Given the description of an element on the screen output the (x, y) to click on. 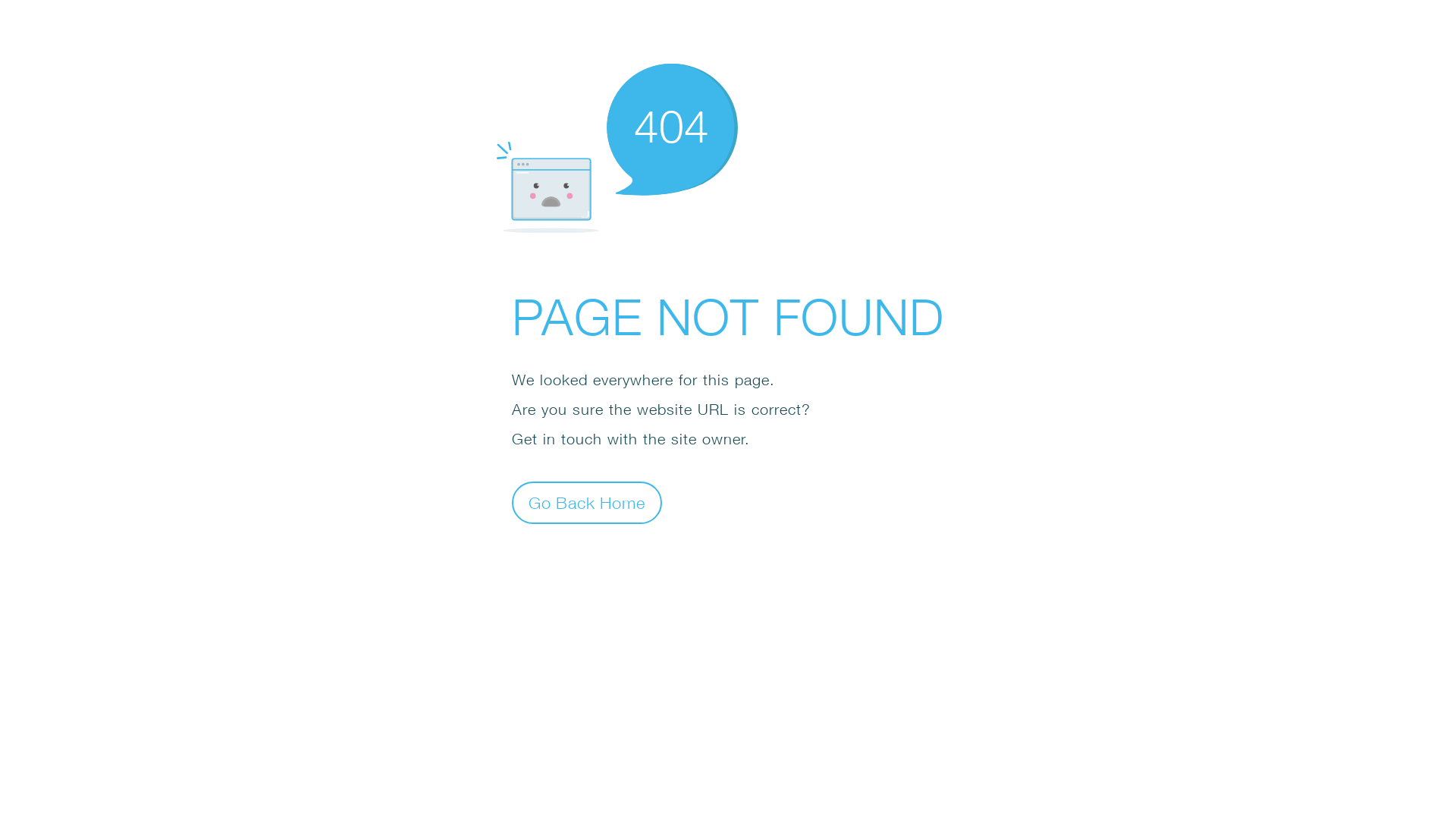
Go Back Home Element type: text (586, 502)
